Given the description of an element on the screen output the (x, y) to click on. 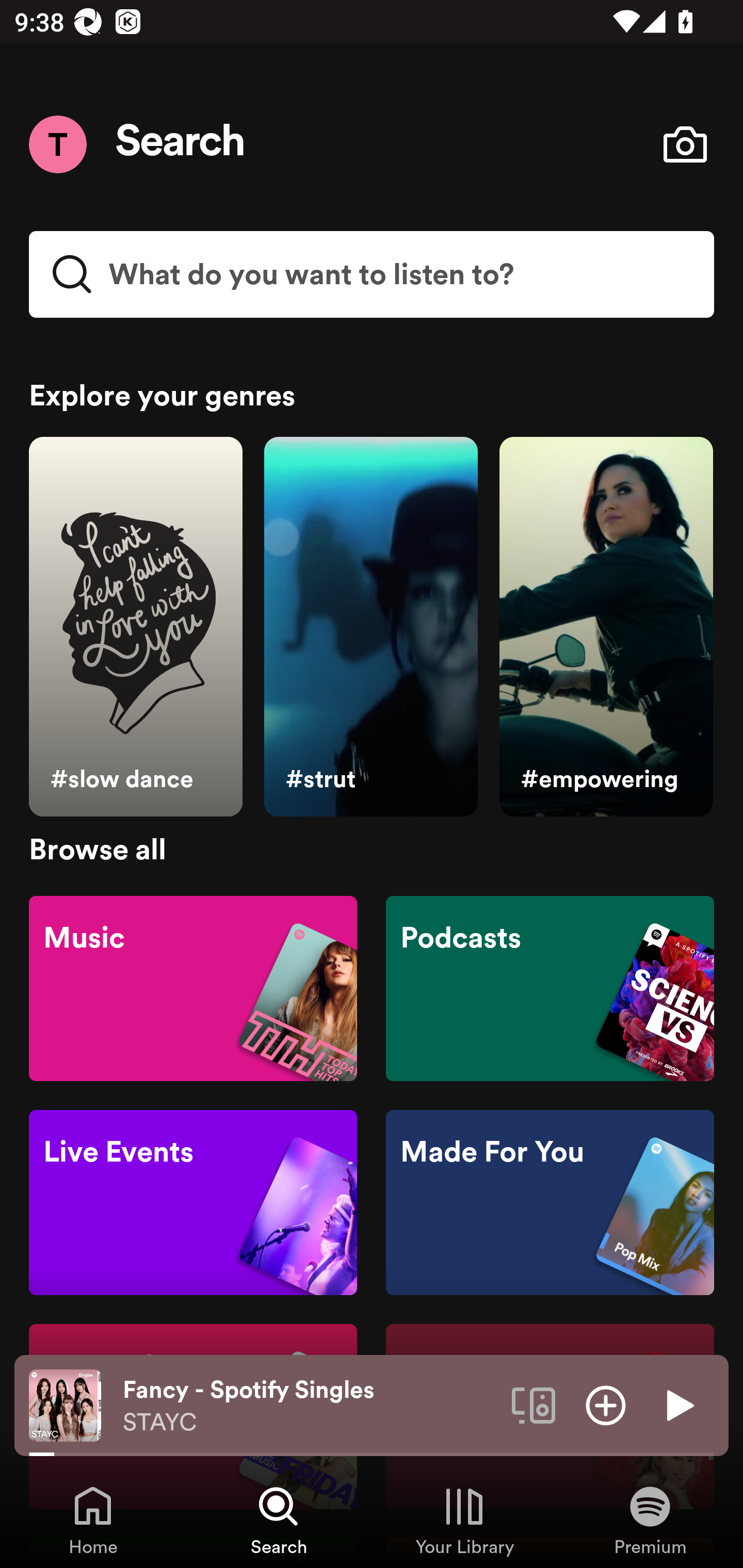
Menu (57, 144)
Open camera (685, 145)
Search (180, 144)
#slow dance (135, 626)
#strut (370, 626)
#empowering (606, 626)
Music (192, 987)
Podcasts (549, 987)
Live Events (192, 1202)
Made For You (549, 1202)
Fancy - Spotify Singles STAYC (309, 1405)
The cover art of the currently playing track (64, 1404)
Connect to a device. Opens the devices menu (533, 1404)
Add item (605, 1404)
Play (677, 1404)
Home, Tab 1 of 4 Home Home (92, 1519)
Search, Tab 2 of 4 Search Search (278, 1519)
Your Library, Tab 3 of 4 Your Library Your Library (464, 1519)
Premium, Tab 4 of 4 Premium Premium (650, 1519)
